Given the description of an element on the screen output the (x, y) to click on. 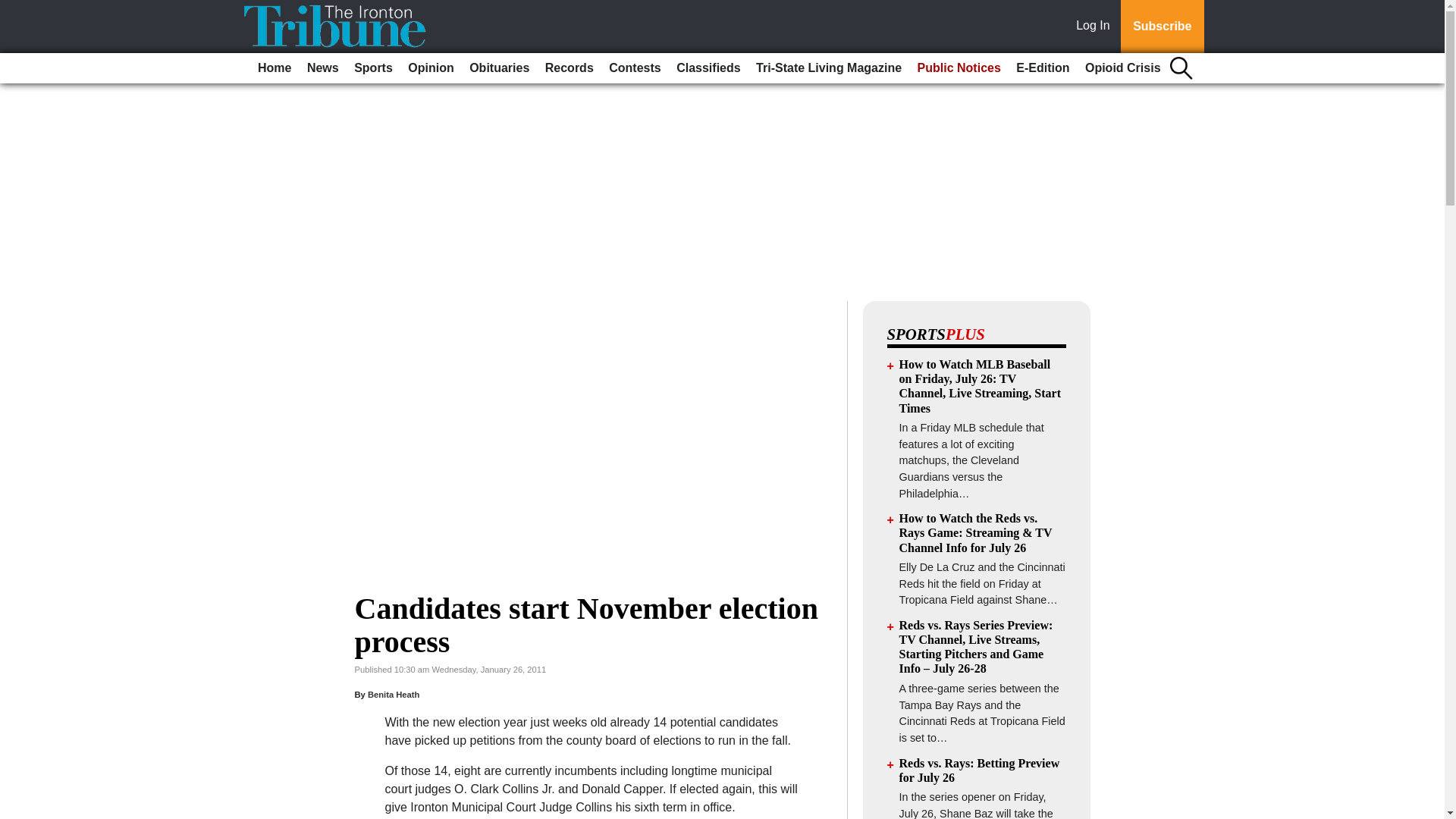
Obituaries (499, 68)
Home (274, 68)
Opioid Crisis (1122, 68)
Classifieds (707, 68)
Opinion (430, 68)
Reds vs. Rays: Betting Preview for July 26 (979, 769)
News (323, 68)
Contests (634, 68)
Tri-State Living Magazine (828, 68)
Go (13, 9)
Log In (1095, 26)
Public Notices (959, 68)
Benita Heath (393, 694)
E-Edition (1042, 68)
Records (568, 68)
